Given the description of an element on the screen output the (x, y) to click on. 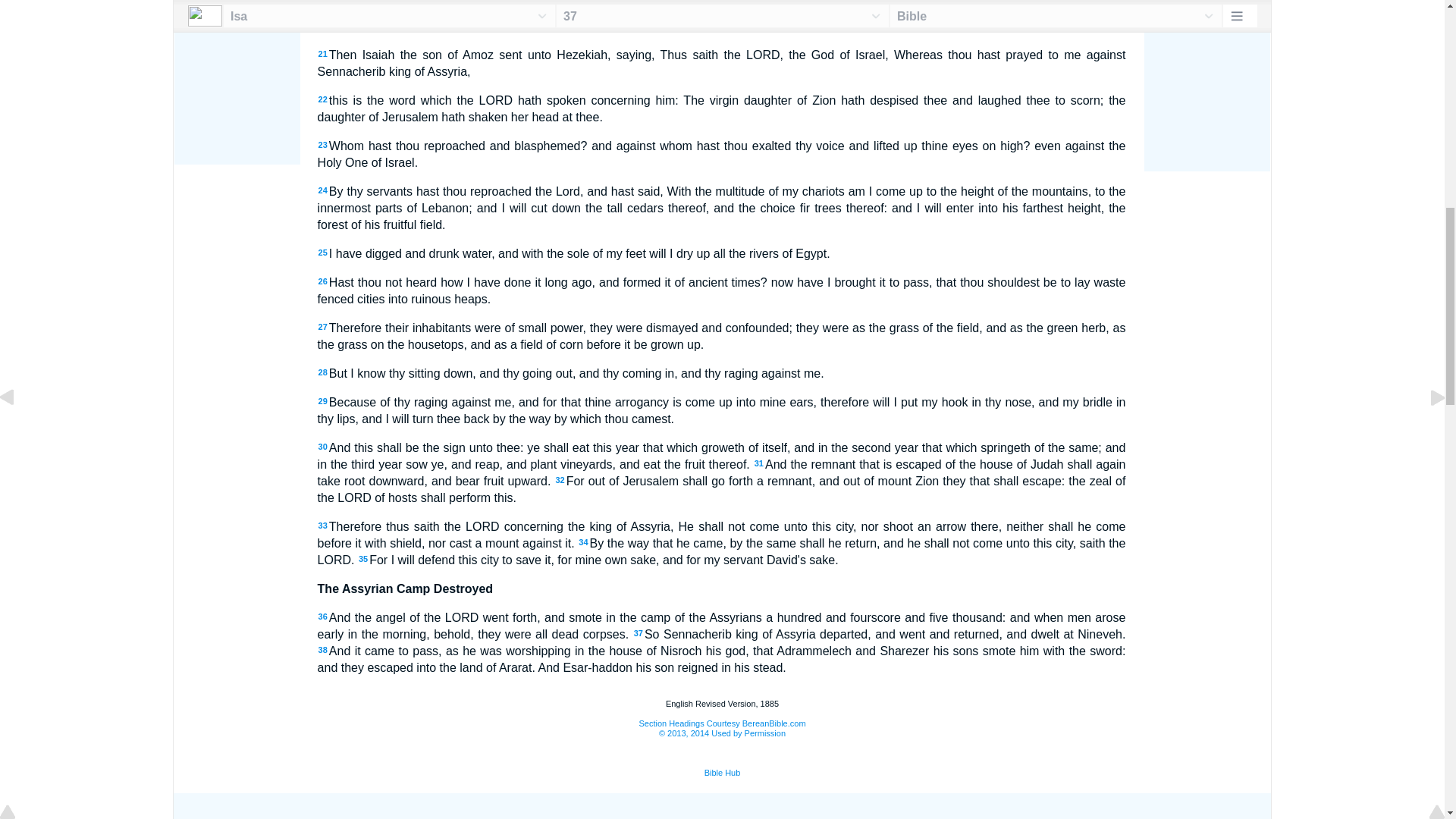
25 (322, 252)
27 (322, 326)
21 (322, 53)
26 (322, 280)
33 (322, 524)
34 (583, 542)
Top of Page (18, 1)
22 (322, 99)
28 (322, 371)
24 (322, 189)
23 (322, 144)
32 (559, 479)
29 (322, 400)
30 (322, 446)
31 (758, 462)
